Given the description of an element on the screen output the (x, y) to click on. 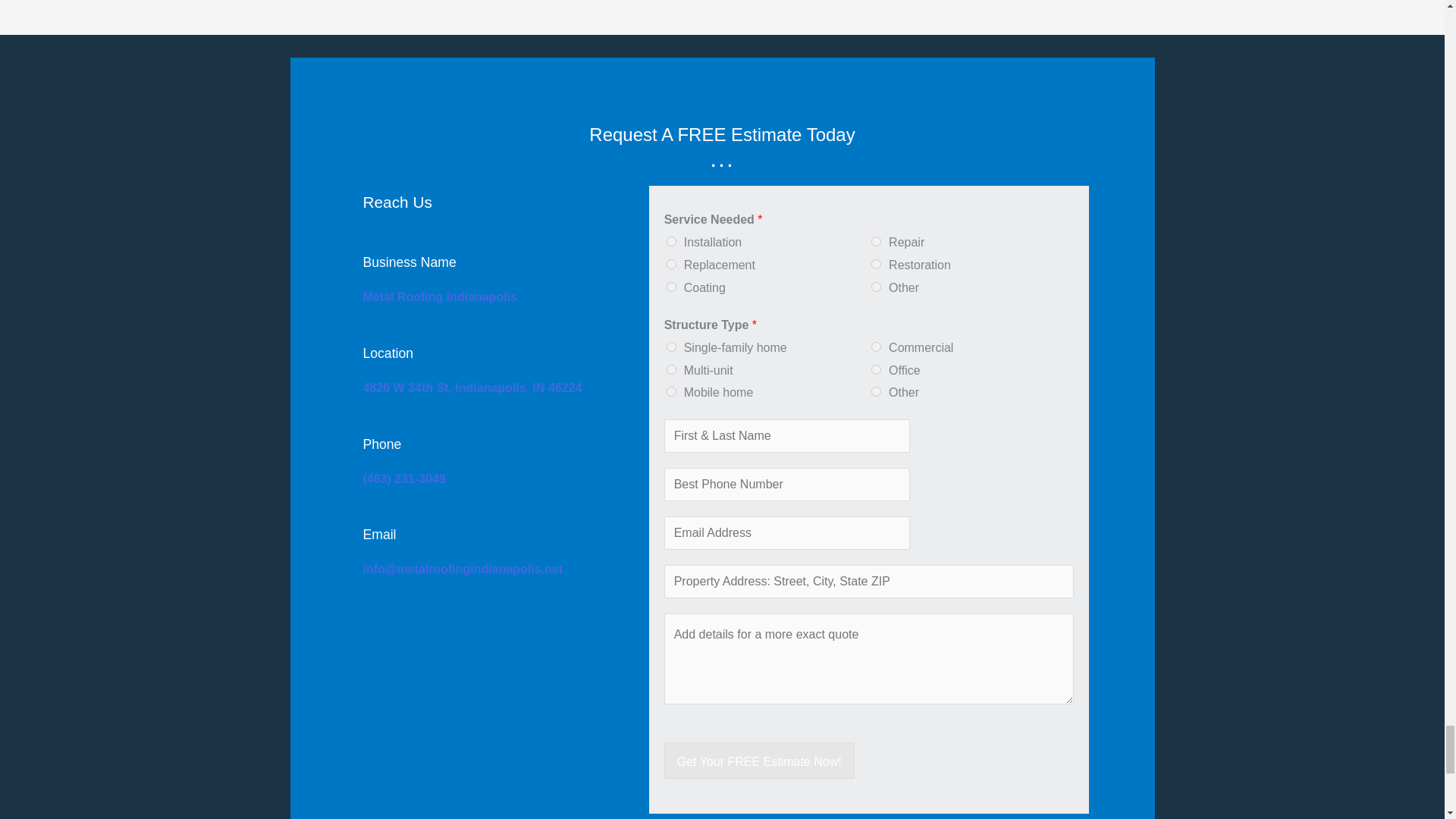
Single-family home (671, 347)
Replacement (671, 264)
Commercial (875, 347)
Multi-unit (671, 369)
Restoration (875, 264)
Mobile home (671, 391)
Other (875, 286)
Office (875, 369)
Other (875, 391)
Installation (671, 241)
